Given the description of an element on the screen output the (x, y) to click on. 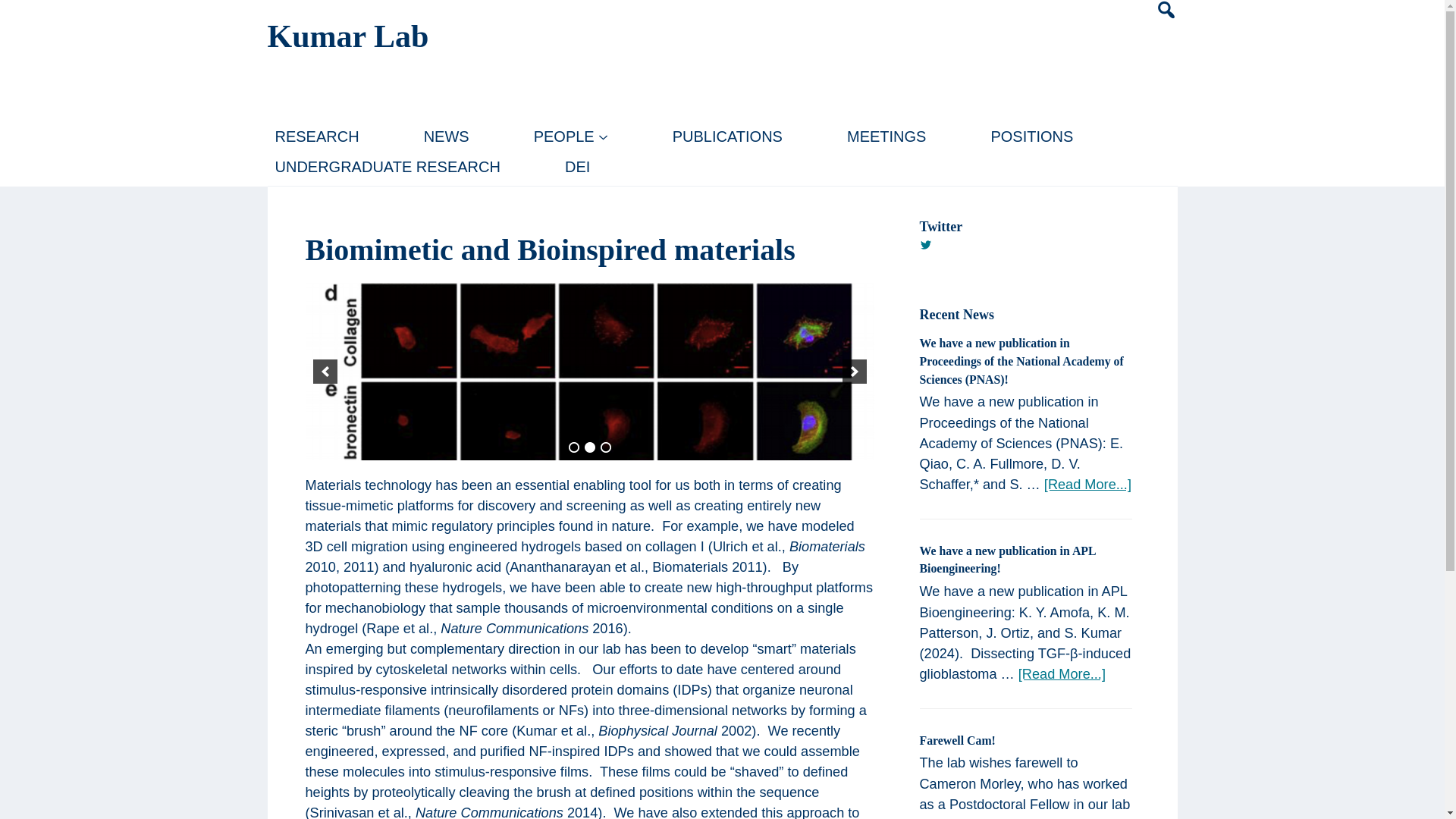
DEI (576, 166)
RESEARCH (316, 136)
Farewell Cam! (956, 739)
PUBLICATIONS (727, 136)
Homepage (347, 36)
UNDERGRADUATE RESEARCH (386, 166)
We have a new publication in APL Bioengineering! (1006, 559)
PEOPLE (570, 136)
Kumar Lab (347, 36)
POSITIONS (1031, 136)
NEWS (446, 136)
MEETINGS (886, 136)
